Given the description of an element on the screen output the (x, y) to click on. 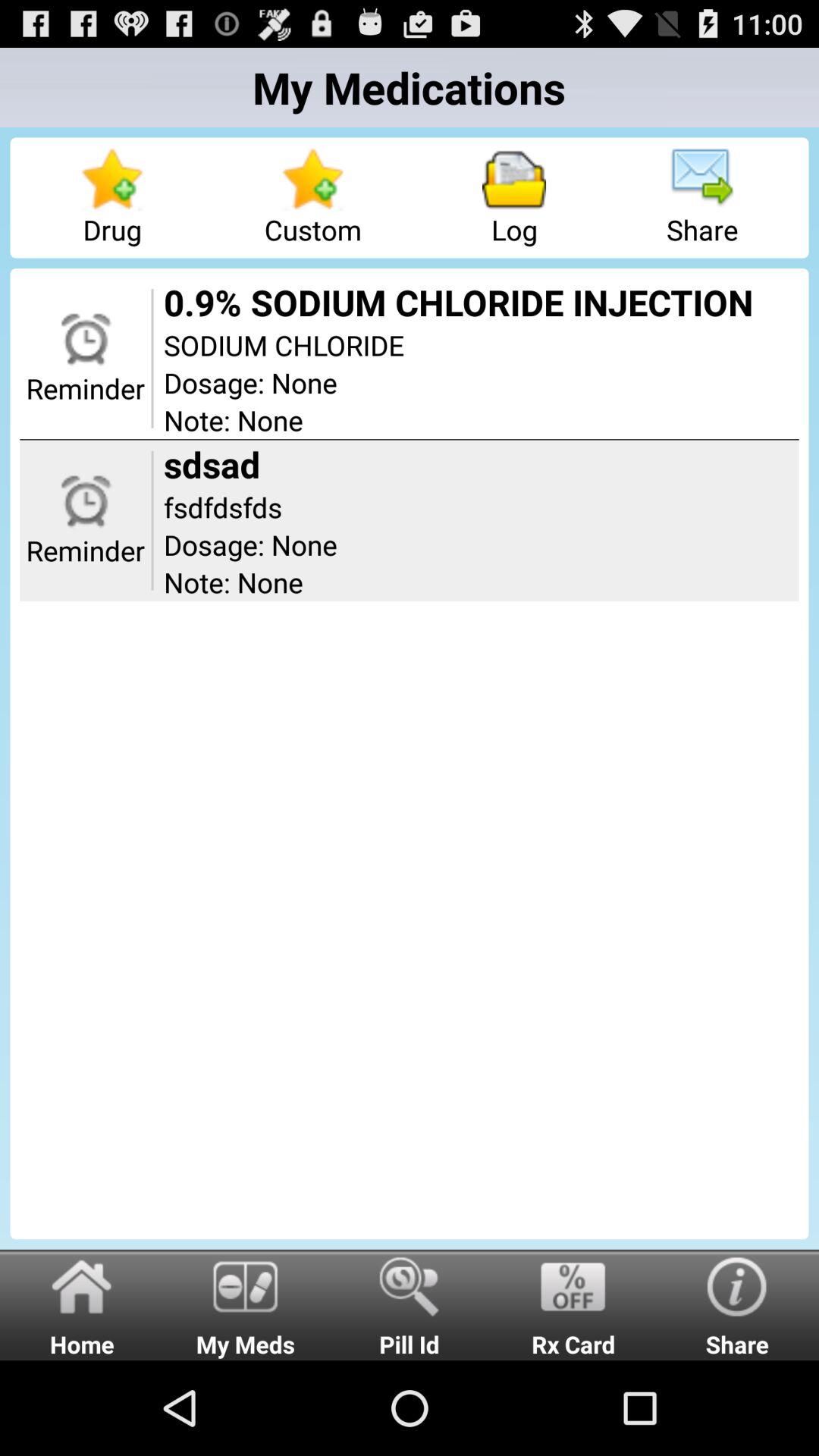
turn on the radio button to the right of the pill id radio button (573, 1304)
